Given the description of an element on the screen output the (x, y) to click on. 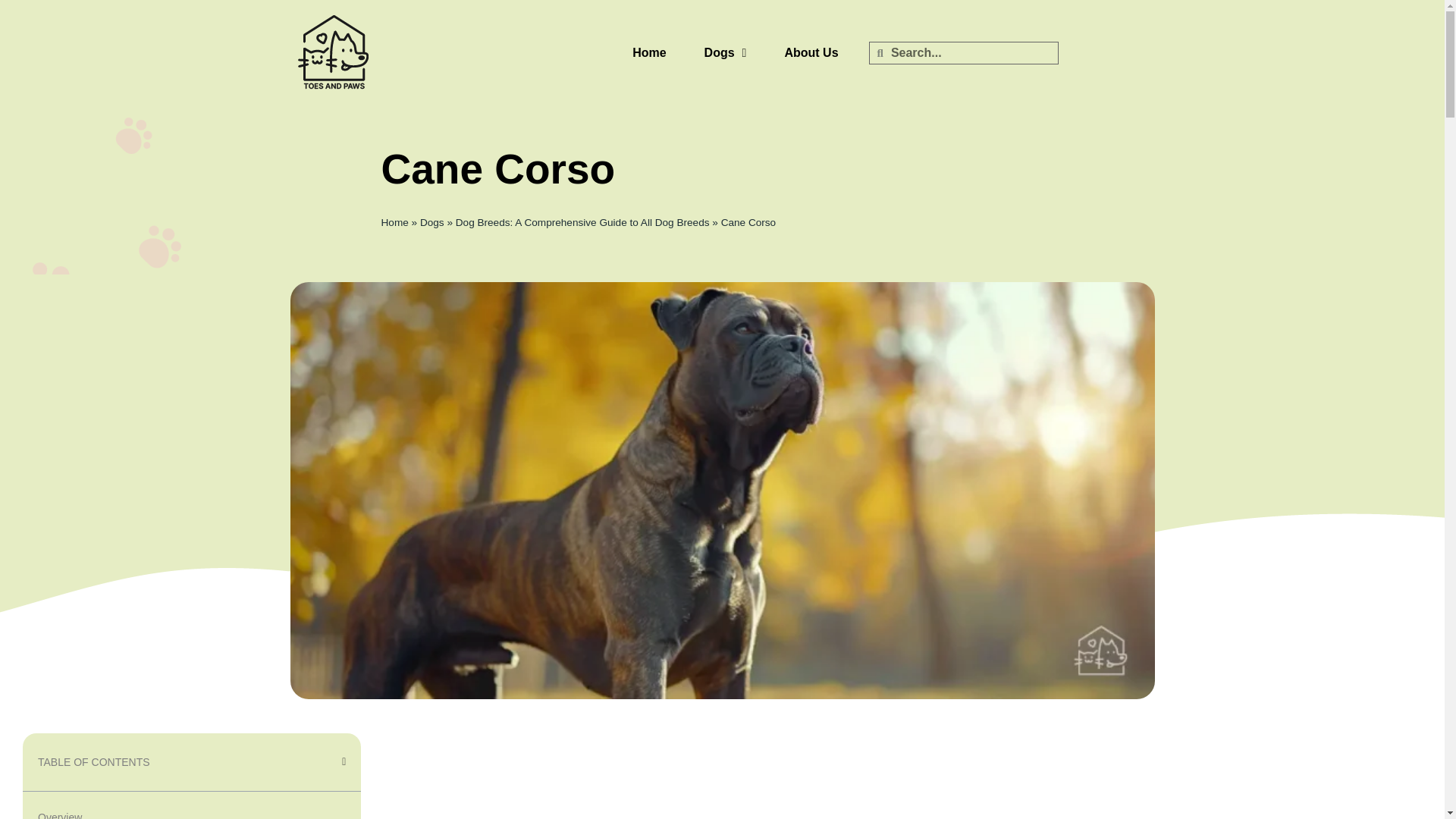
Dogs (724, 53)
Dogs (432, 222)
Home (649, 53)
Overview (59, 812)
About Us (810, 53)
Advertisement (807, 780)
Dog Breeds: A Comprehensive Guide to All Dog Breeds (582, 222)
Home (393, 222)
